Given the description of an element on the screen output the (x, y) to click on. 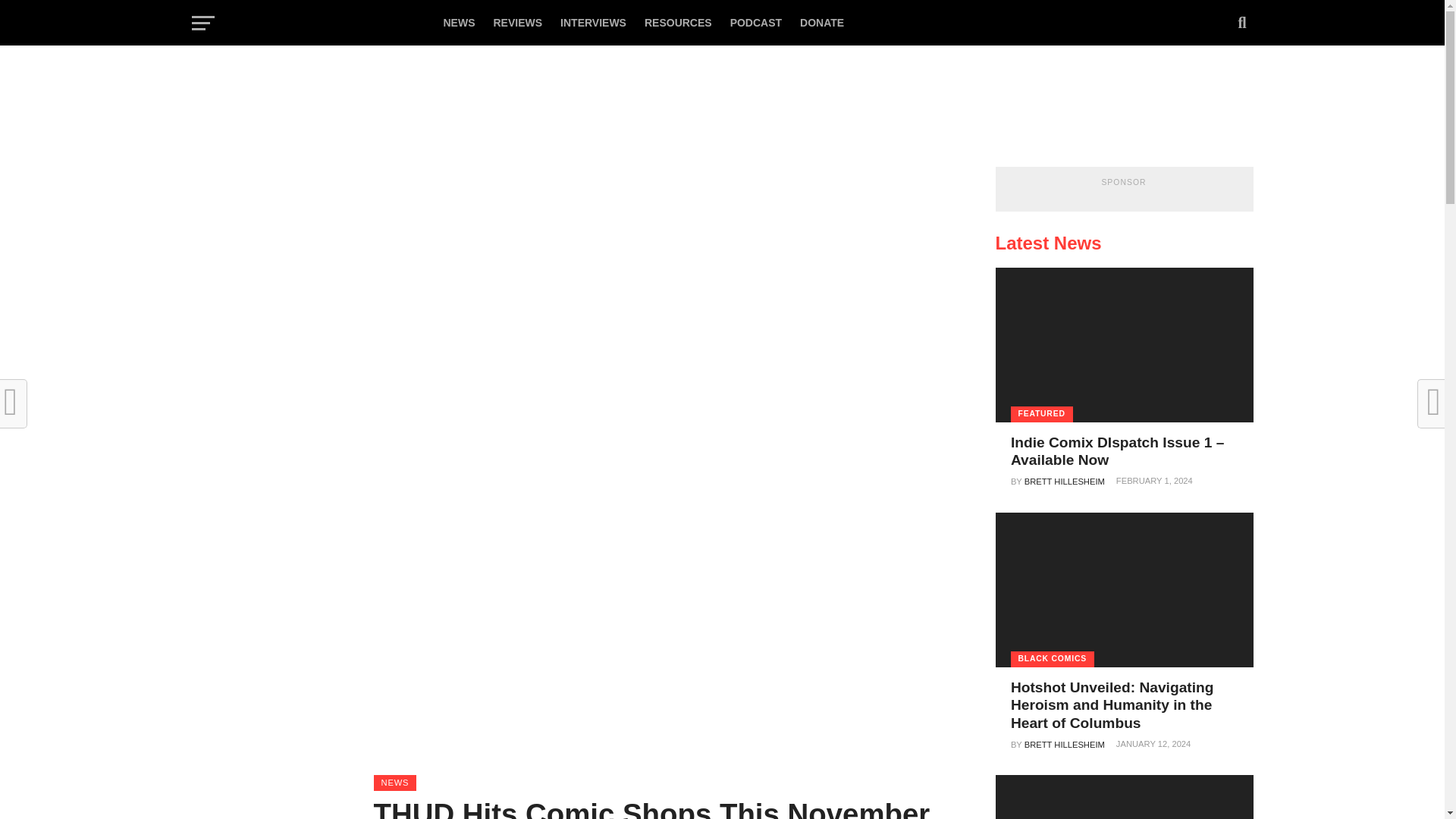
PODCAST (755, 22)
DONATE (821, 22)
INTERVIEWS (592, 22)
NEWS (458, 22)
RESOURCES (677, 22)
REVIEWS (517, 22)
